Given the description of an element on the screen output the (x, y) to click on. 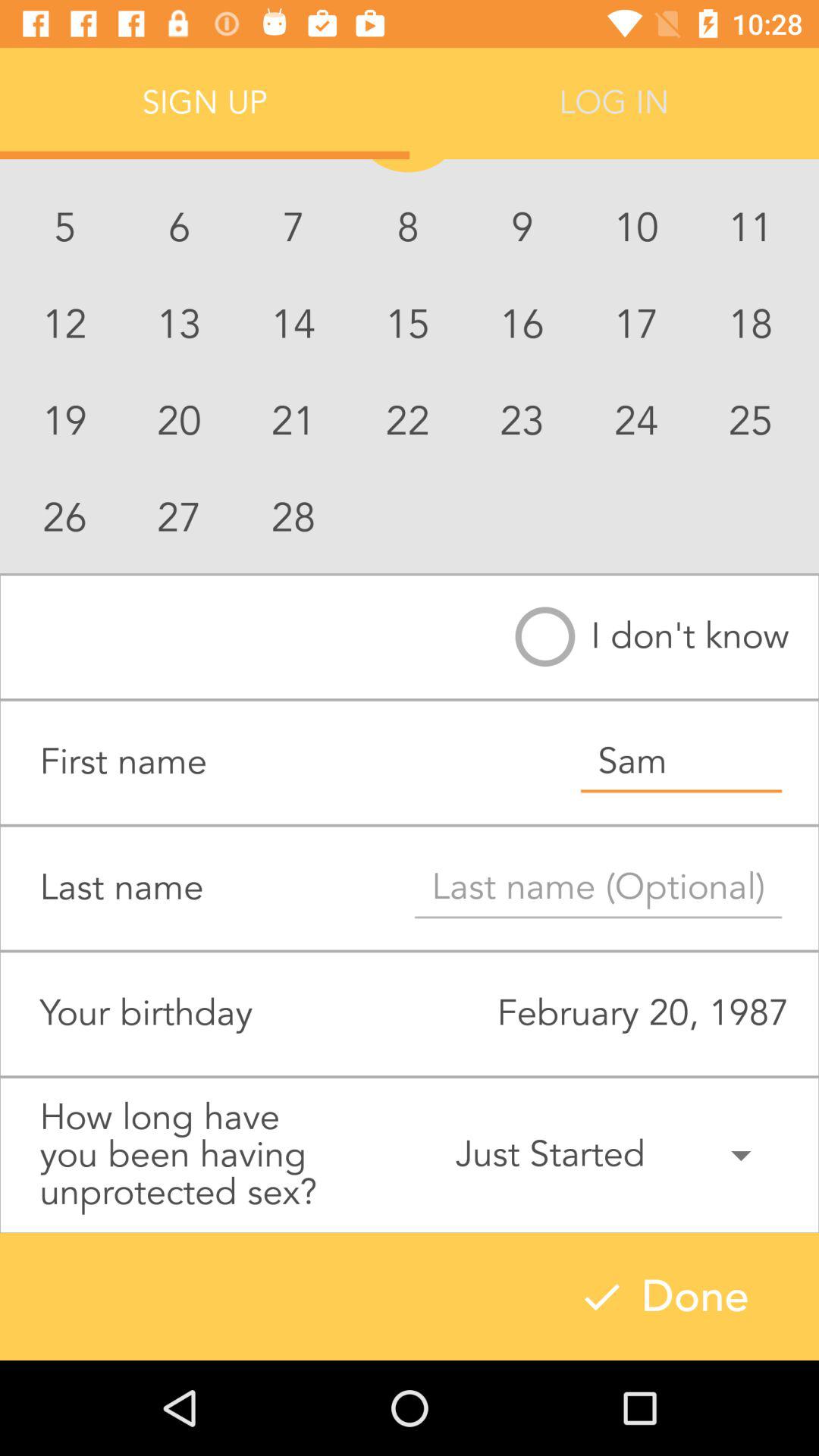
input last name (597, 888)
